Given the description of an element on the screen output the (x, y) to click on. 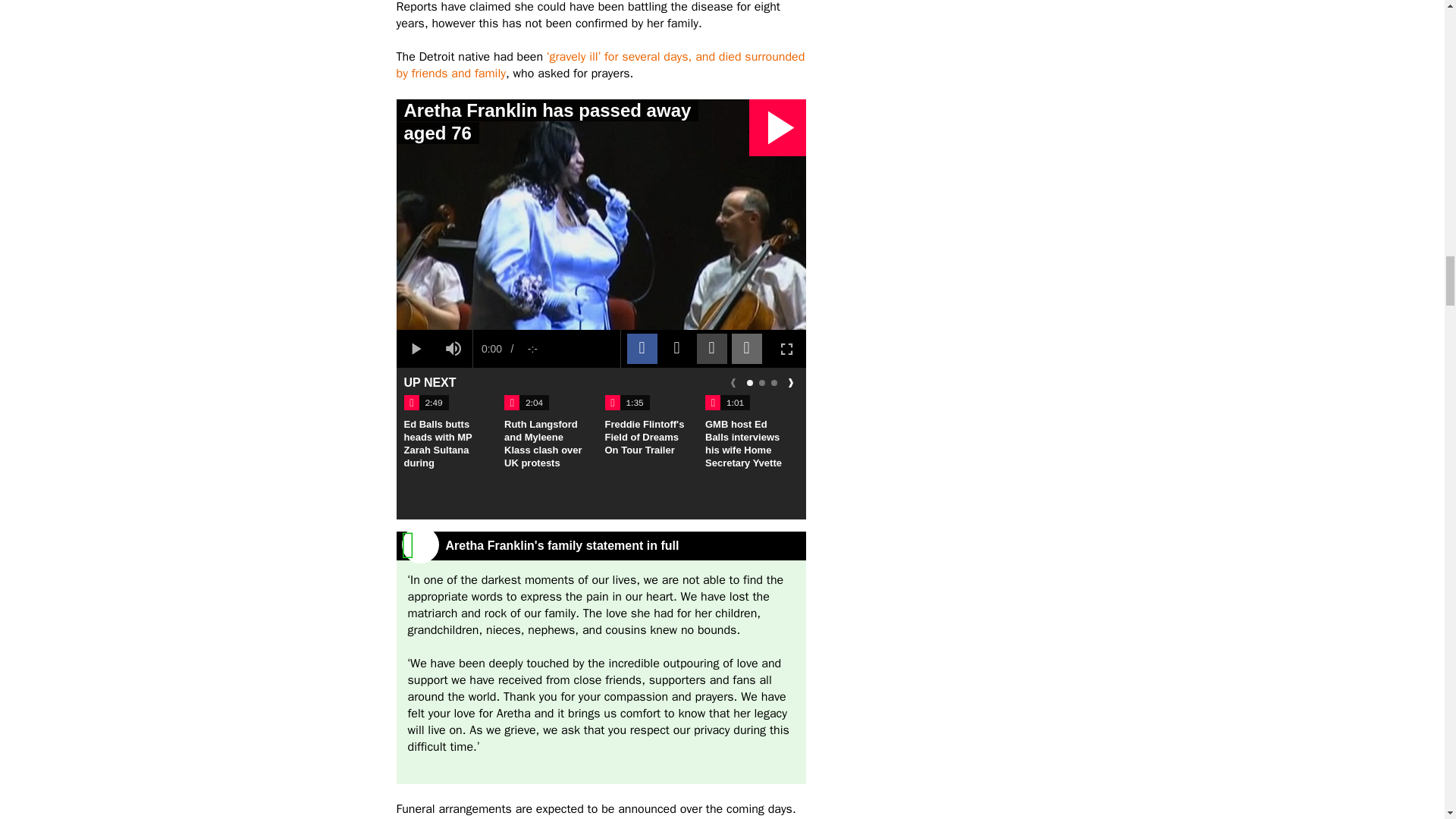
Mute (452, 348)
Play Video (777, 127)
Play (414, 348)
